Given the description of an element on the screen output the (x, y) to click on. 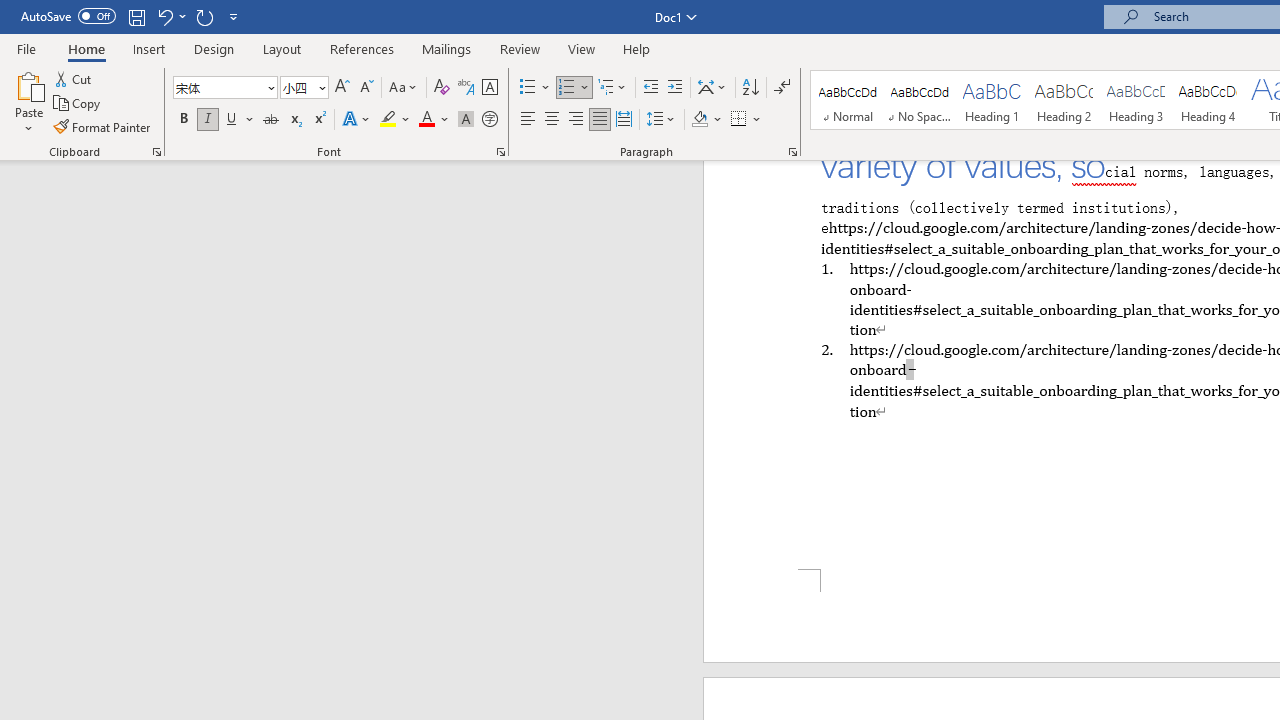
Undo Apply Quick Style (170, 15)
